Given the description of an element on the screen output the (x, y) to click on. 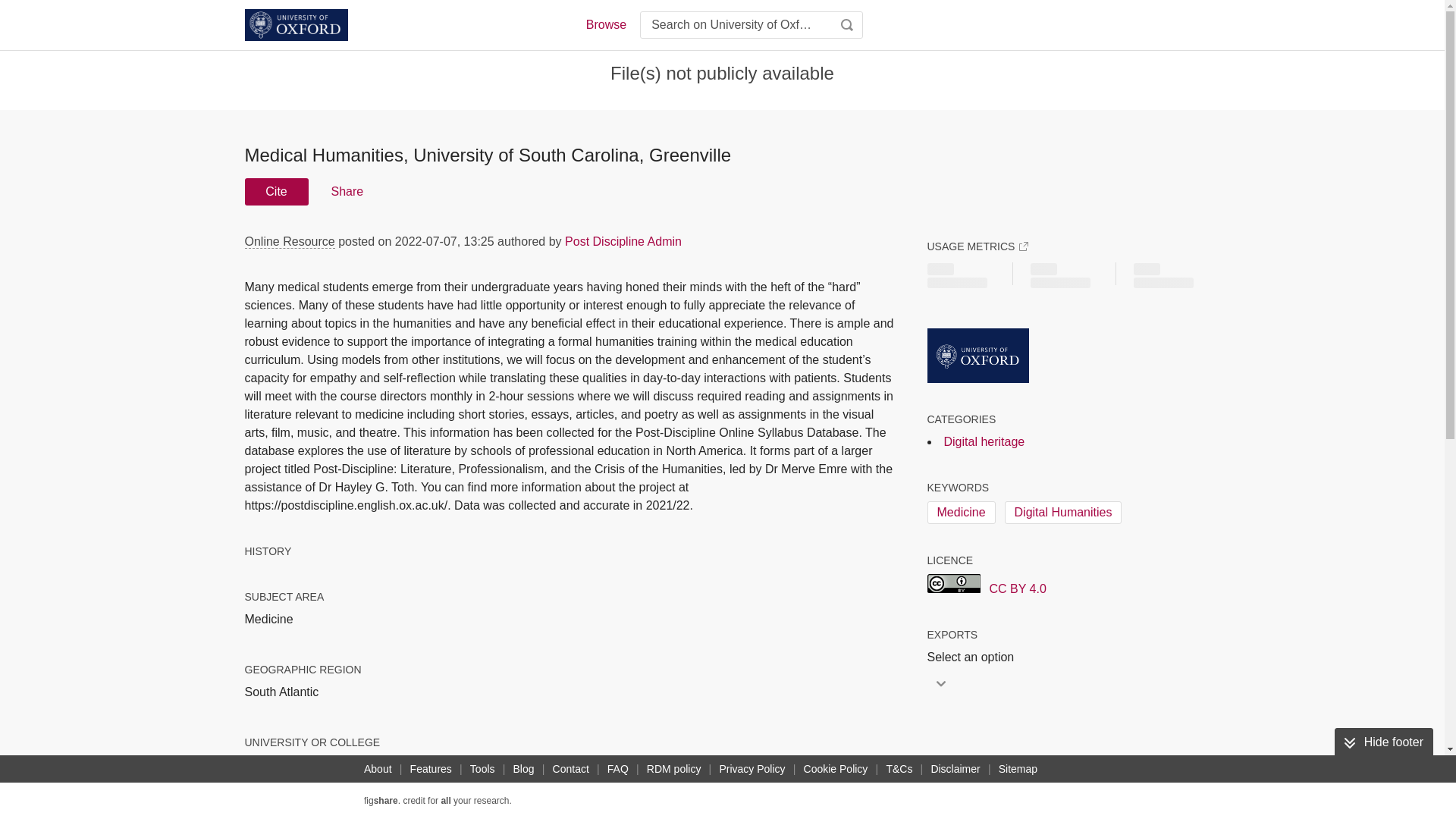
Blog (523, 769)
Post Discipline Admin (622, 241)
RDM policy (674, 769)
Tools (482, 769)
Features (431, 769)
Medicine (960, 512)
About (377, 769)
Contact (571, 769)
Hide footer (1383, 742)
Cite (275, 191)
